Given the description of an element on the screen output the (x, y) to click on. 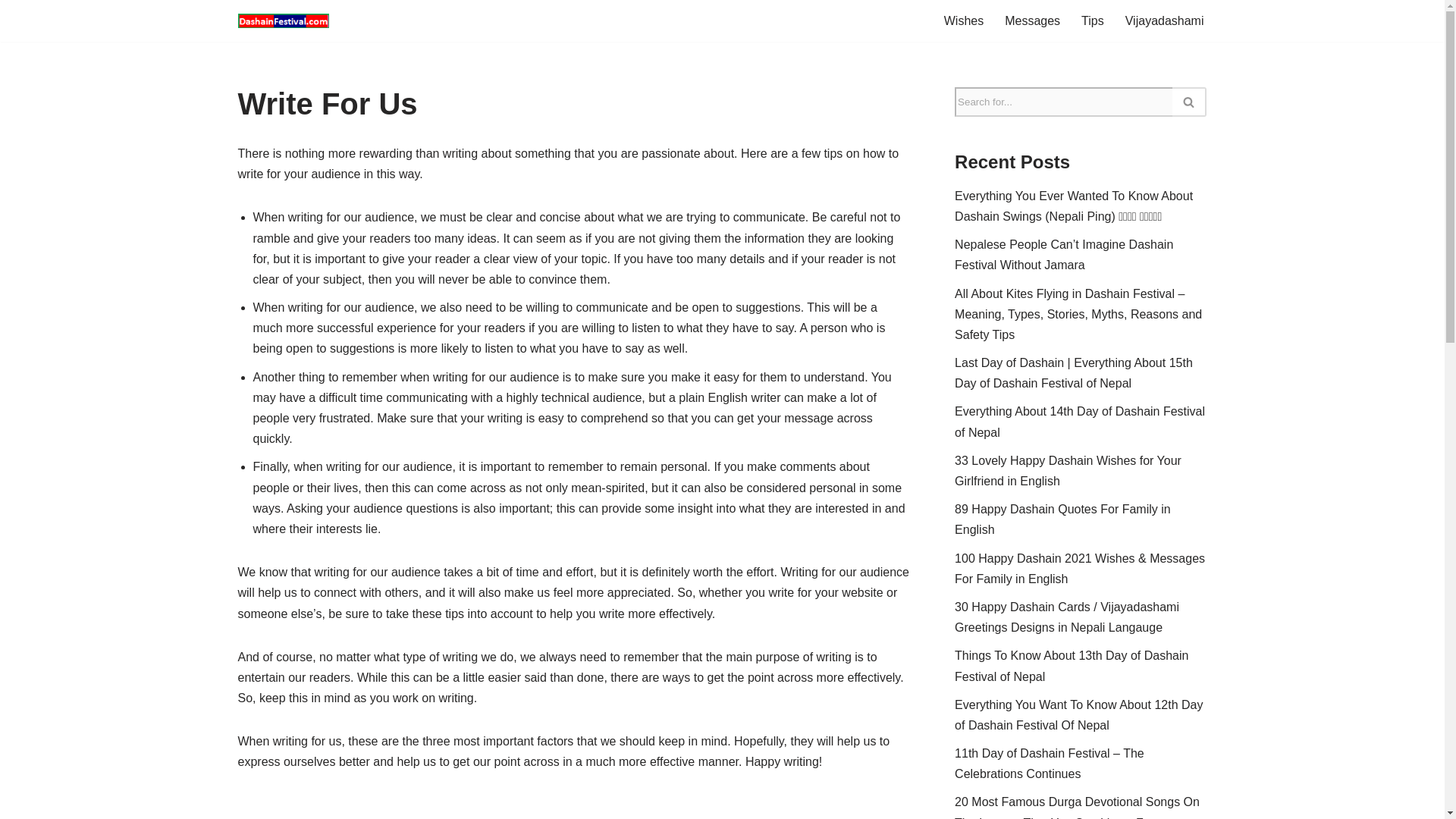
Things To Know About 13th Day of Dashain Festival of Nepal (1071, 665)
Everything About 14th Day of Dashain Festival of Nepal (1080, 421)
Messages (1031, 20)
Wishes (963, 20)
Tips (1092, 20)
Skip to content (11, 31)
Vijayadashami (1164, 20)
